Given the description of an element on the screen output the (x, y) to click on. 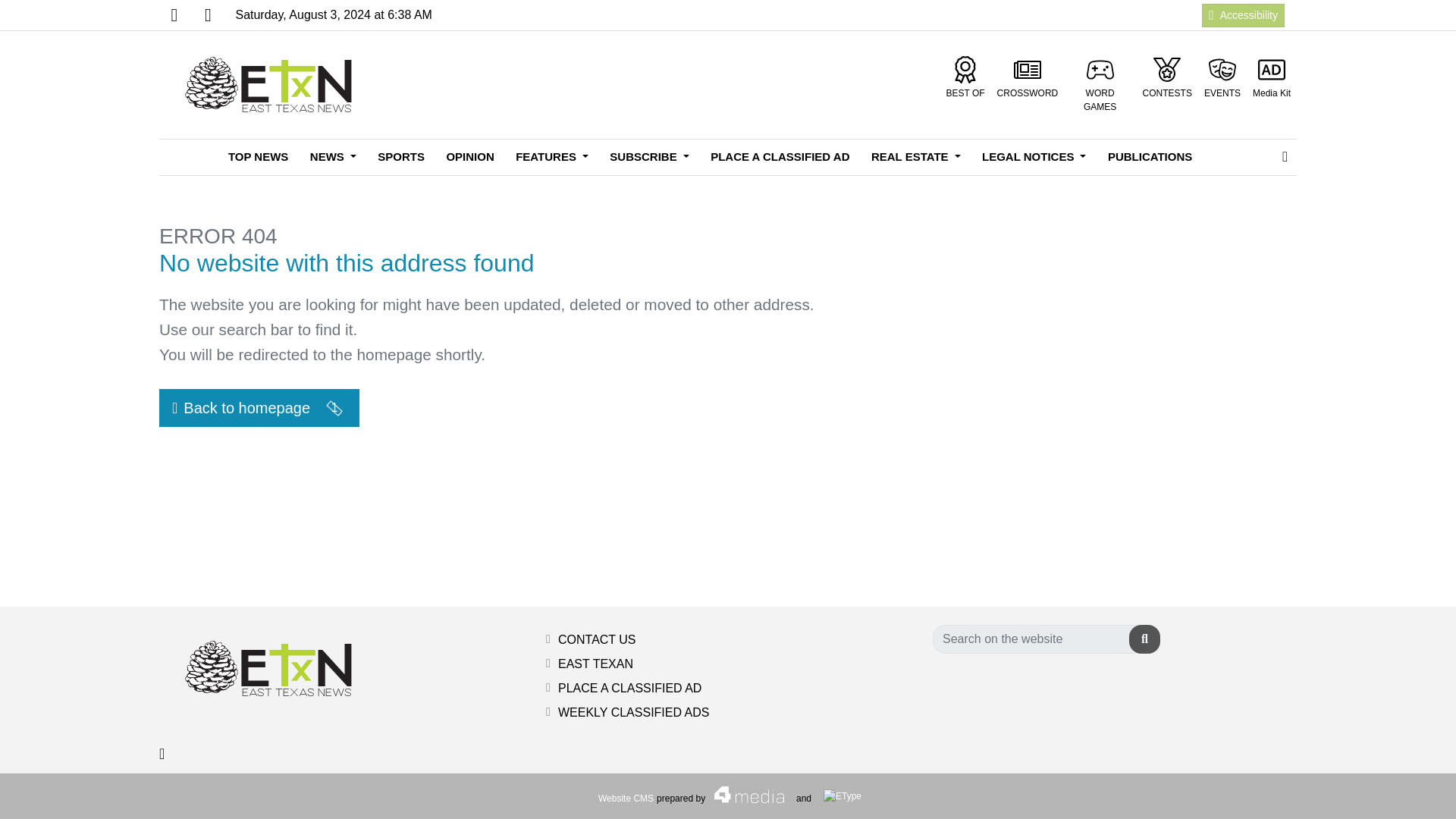
CONTESTS (1167, 77)
CONTESTS (1167, 77)
OPINION (469, 157)
CROSSWORDS (1027, 77)
LEGAL NOTICES (1033, 157)
REAL ESTATE (915, 157)
FEATURES (551, 157)
www.4media.com (625, 798)
SPORTS (400, 157)
www.4media.com (744, 794)
Go to homepage (272, 85)
Go to Facebook.com (173, 15)
Facebook.com (173, 15)
RSS (207, 15)
SUBSCRIBE (648, 157)
